Given the description of an element on the screen output the (x, y) to click on. 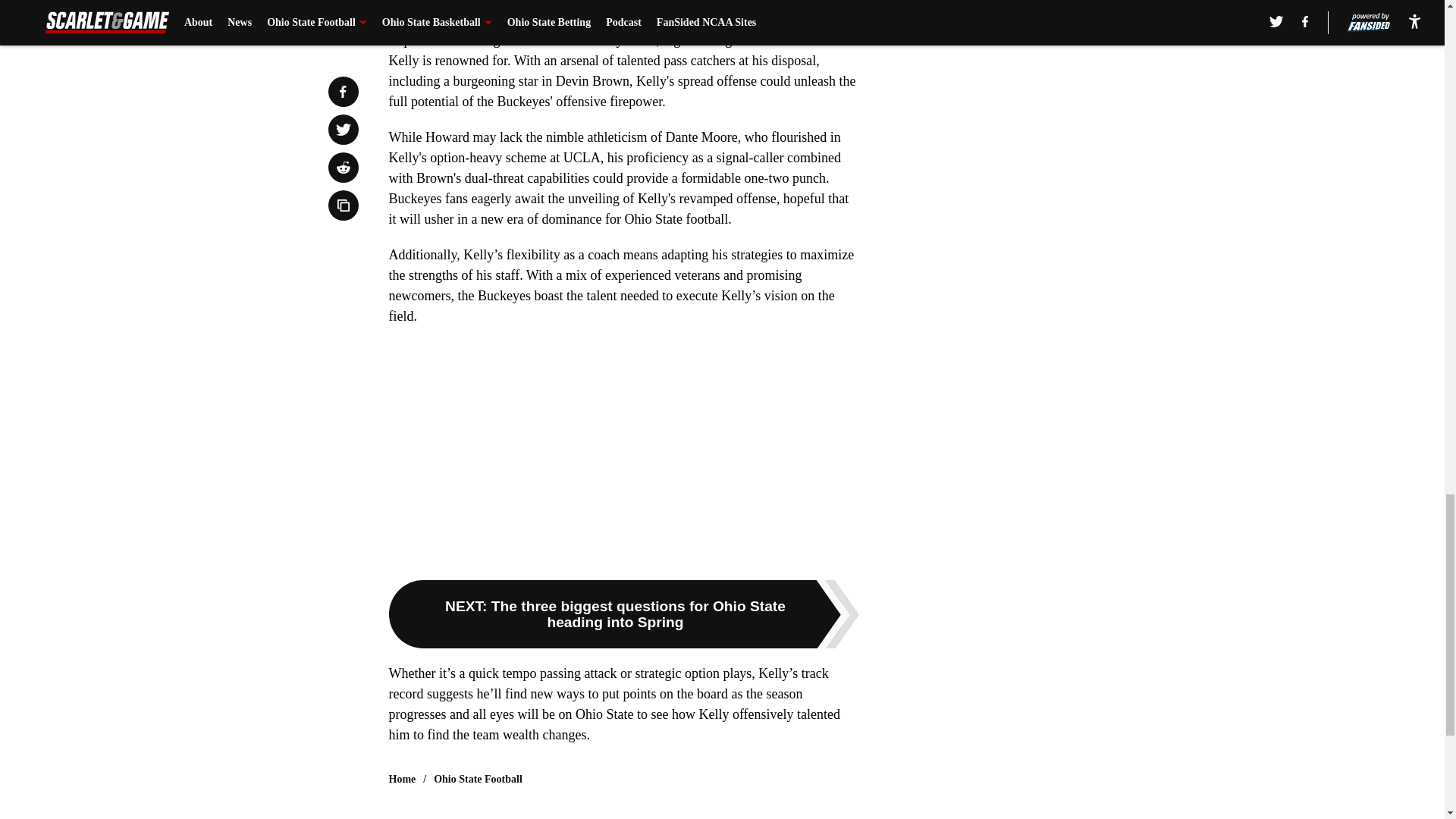
Home (401, 779)
Ohio State Football (477, 779)
